Given the description of an element on the screen output the (x, y) to click on. 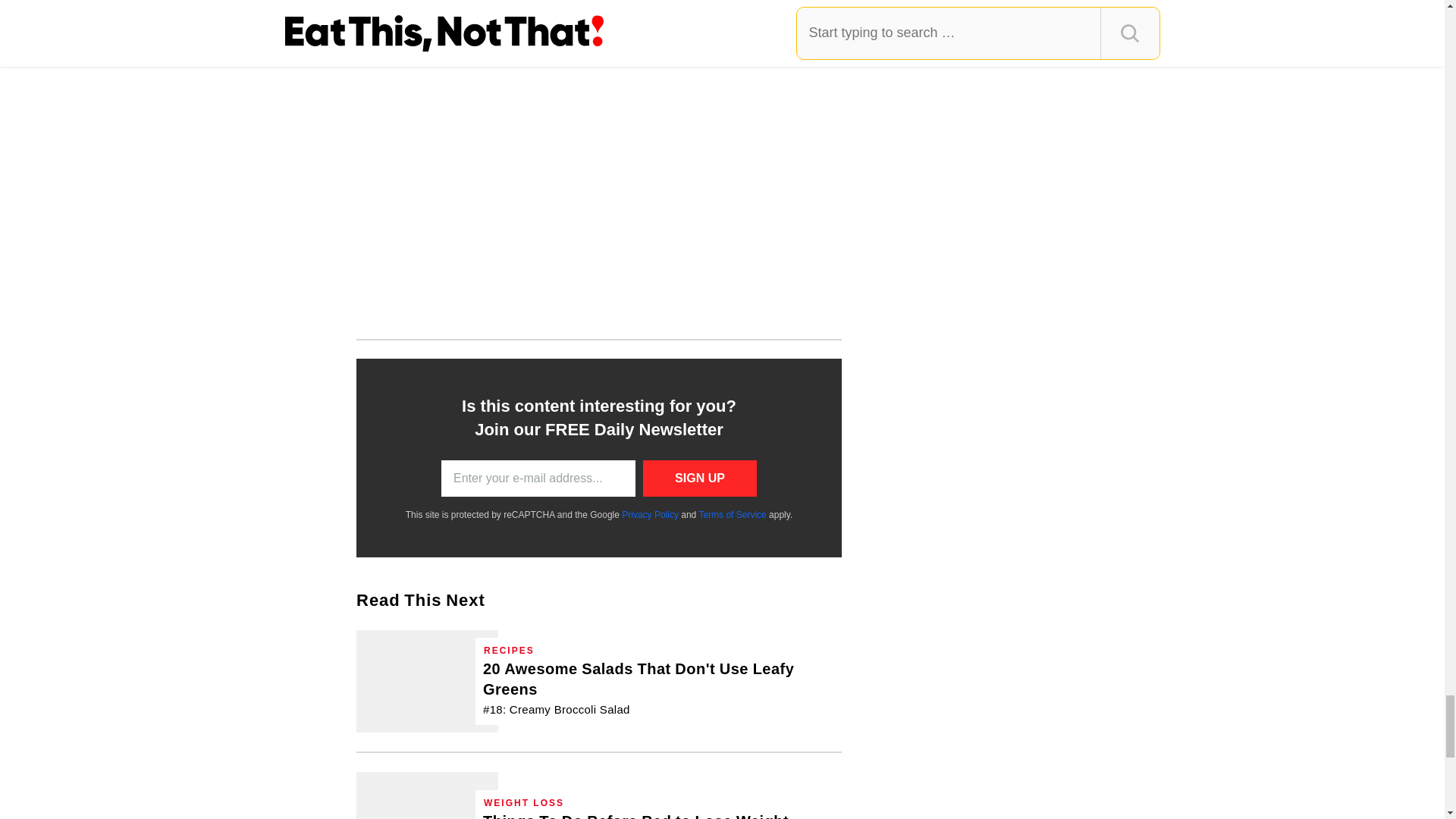
26 Things to Do Before Sleep to Lose Weight (636, 815)
20 Awesome Salads That Don't Use Leafy Greens (426, 680)
20 Awesome Salads That Don't Use Leafy Greens (658, 688)
26 Things to Do Before Sleep to Lose Weight (426, 795)
